Given the description of an element on the screen output the (x, y) to click on. 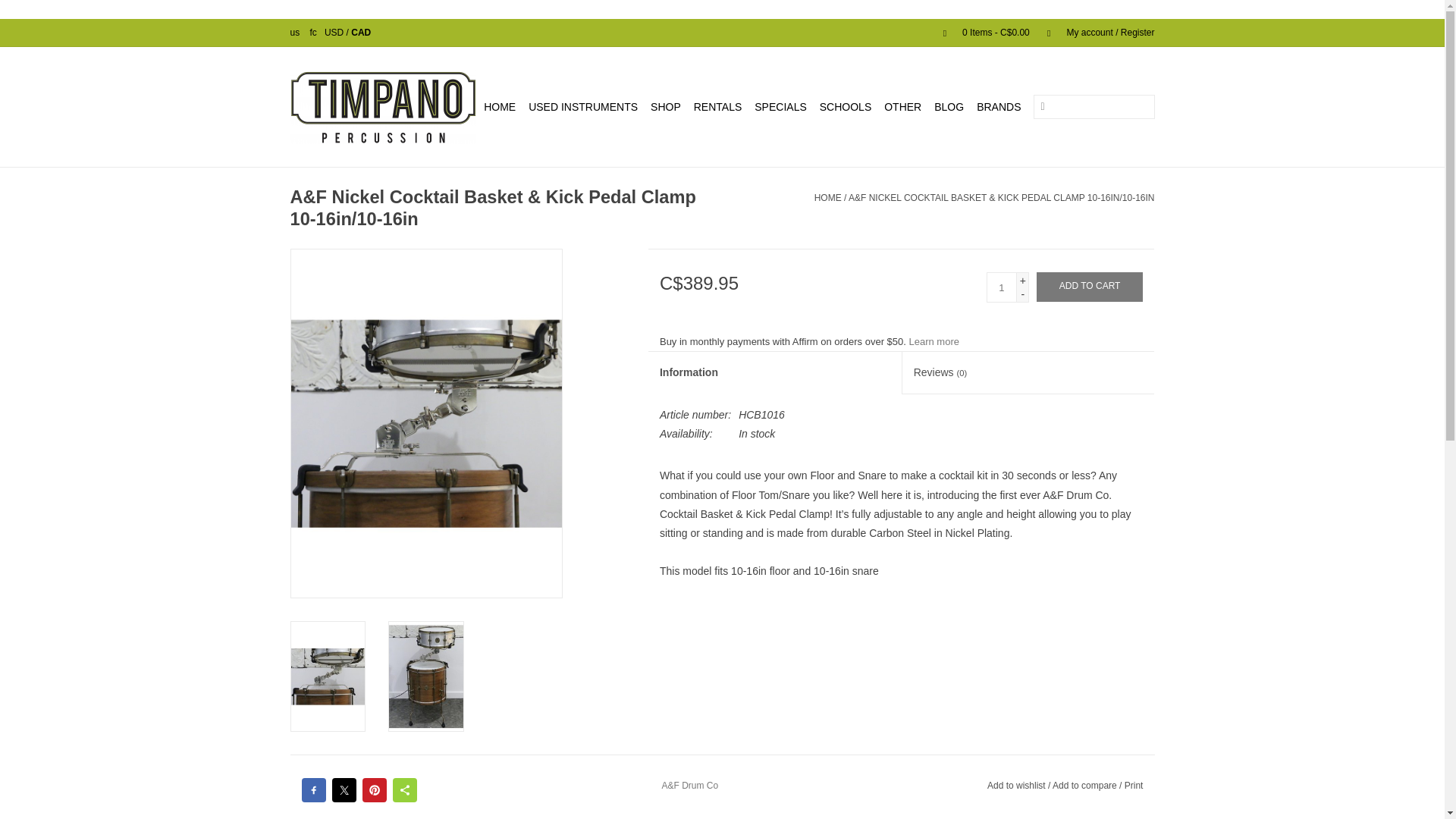
Shop (665, 106)
Used instruments (583, 106)
My account (1093, 32)
HOME (499, 106)
1 (1001, 286)
usd (335, 32)
Cart (980, 32)
Timpano-percussion (382, 106)
USED INSTRUMENTS (583, 106)
cad (360, 32)
us (294, 32)
USD (335, 32)
SHOP (665, 106)
CAD (360, 32)
